Given the description of an element on the screen output the (x, y) to click on. 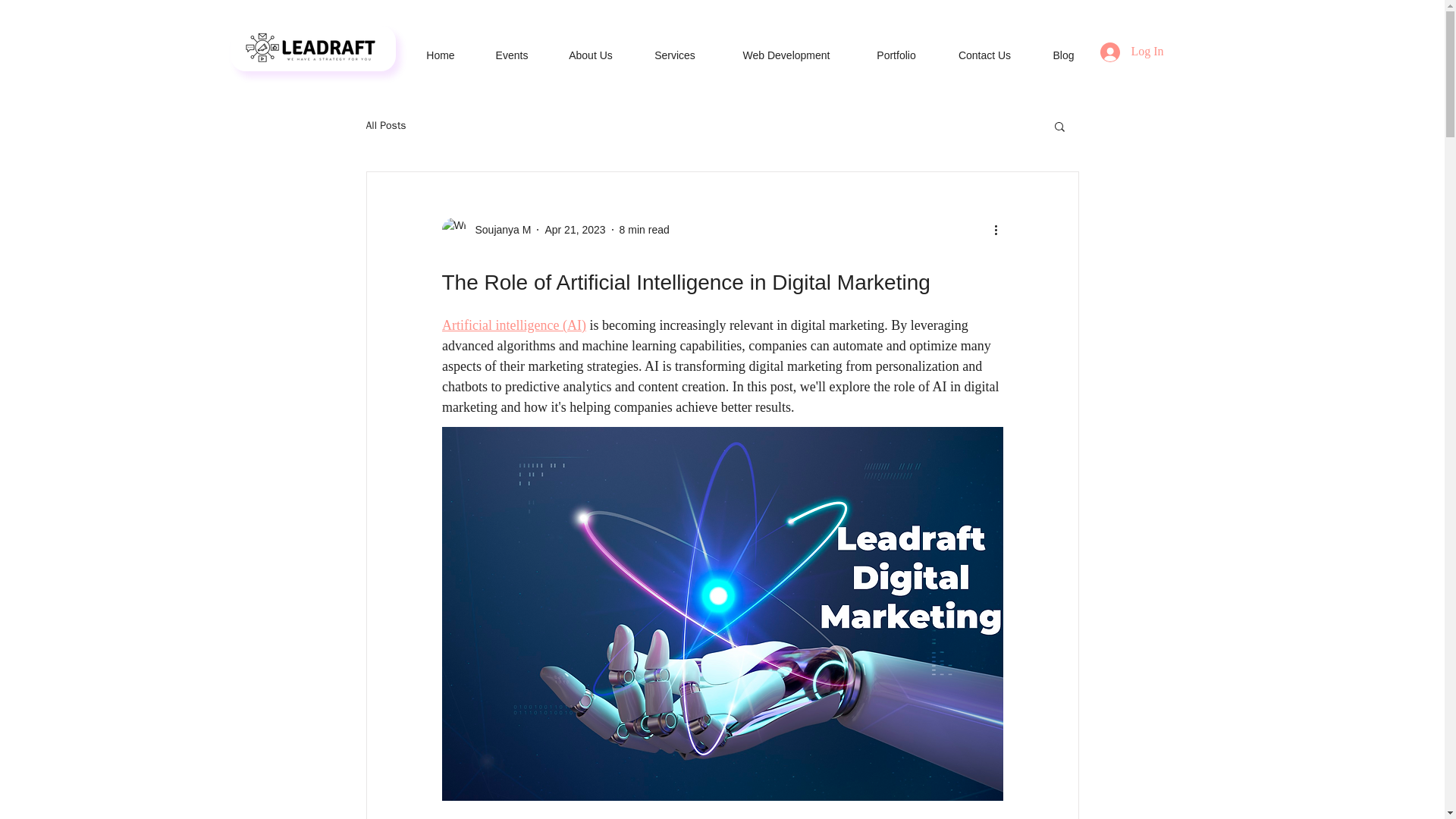
Events (512, 48)
Web Development (786, 48)
All Posts (385, 125)
Portfolio (896, 48)
About Us (590, 48)
Contact Us (984, 48)
Blog (1062, 48)
Soujanya M (498, 229)
Apr 21, 2023 (574, 228)
8 min read (644, 228)
